Given the description of an element on the screen output the (x, y) to click on. 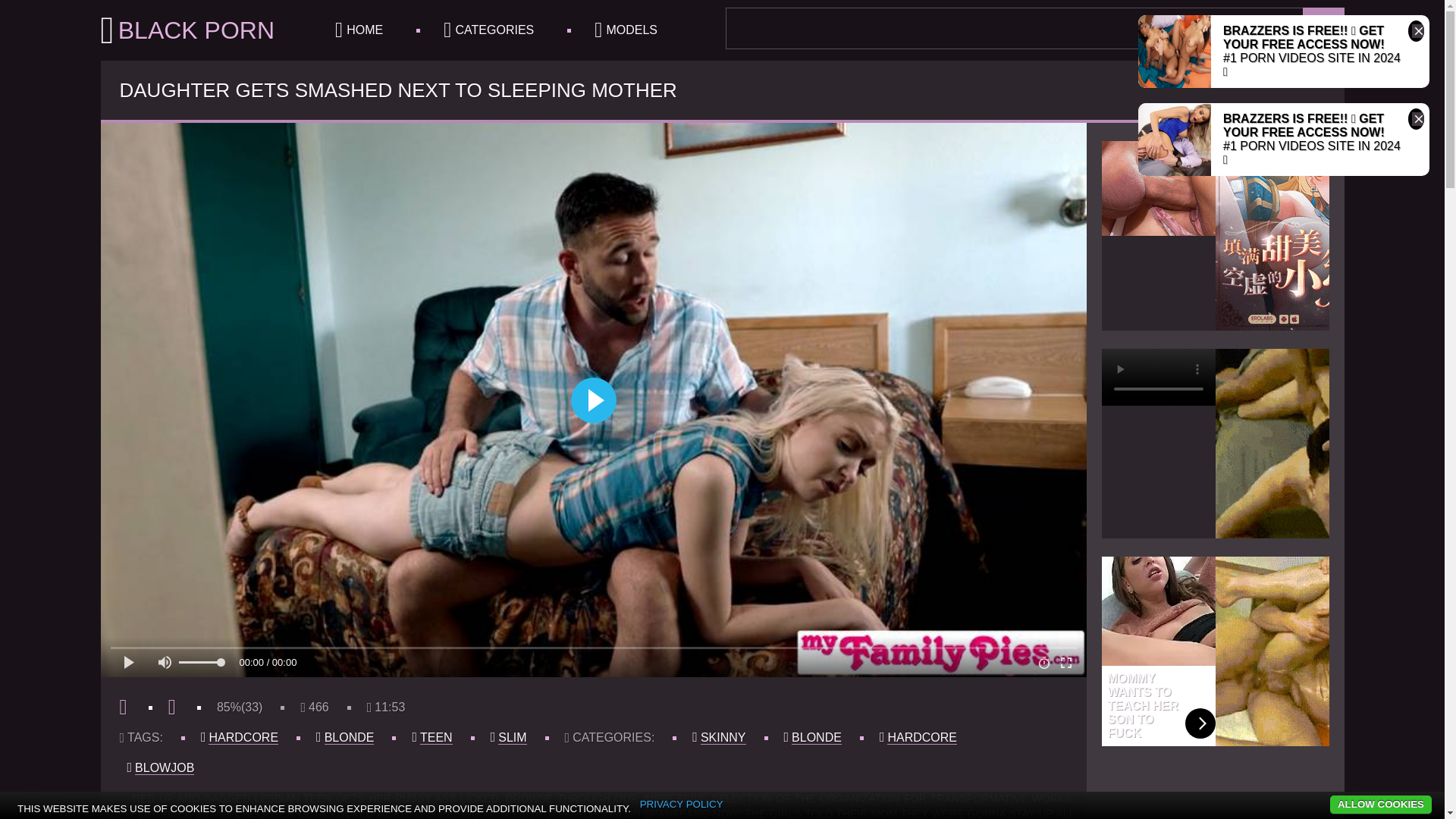
BLACK PORN (187, 30)
HARDCORE (921, 737)
HARDCORE (243, 737)
SLIM (511, 737)
MODELS (626, 30)
BLONDE (816, 737)
TEEN (436, 737)
Find (1323, 28)
BLOWJOB (164, 767)
CATEGORIES (489, 30)
SKINNY (722, 737)
BLONDE (349, 737)
